Given the description of an element on the screen output the (x, y) to click on. 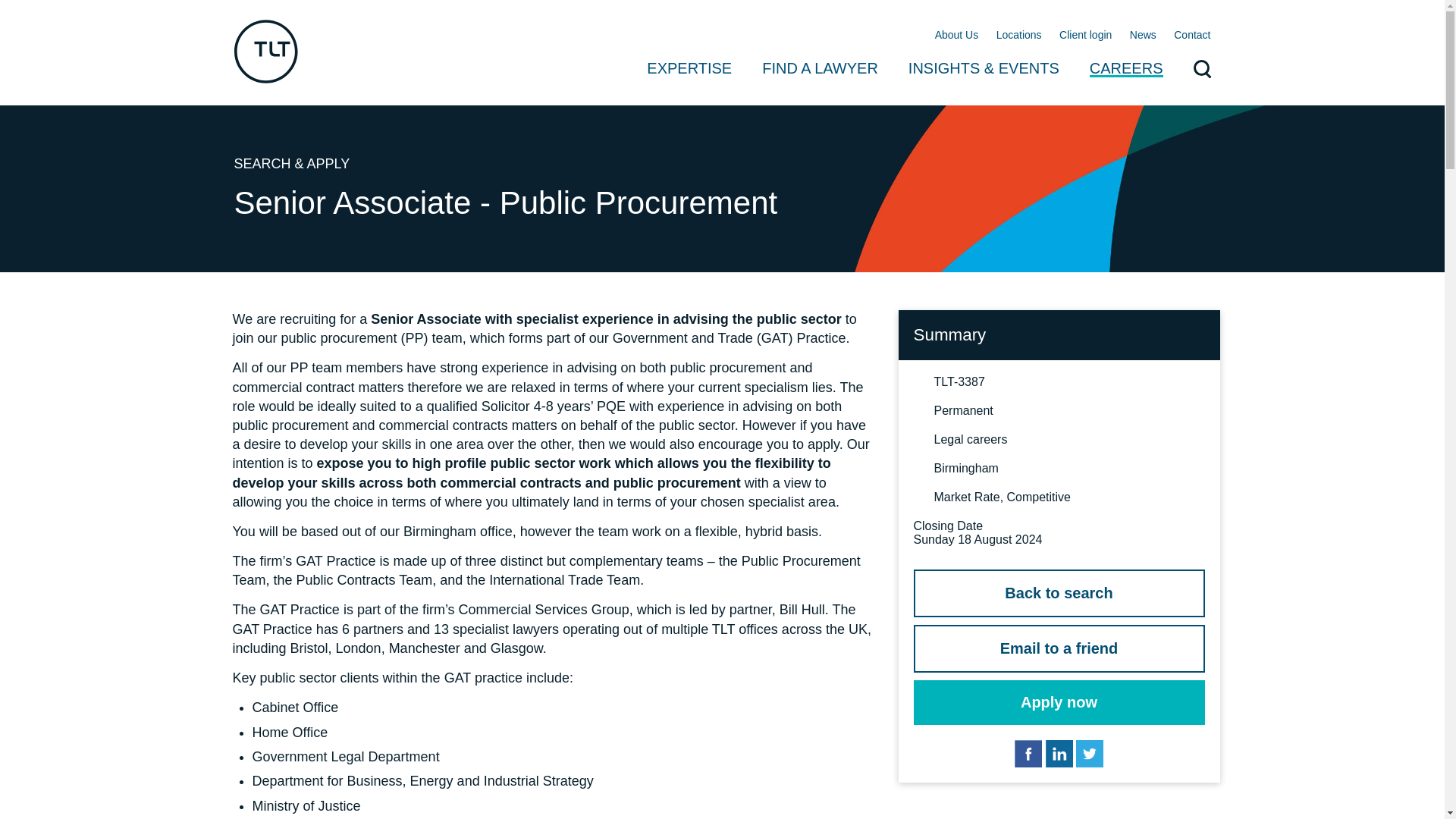
EXPERTISE (689, 82)
News (1142, 35)
Access to Client Login area (1085, 35)
Locations (1018, 35)
About Us (956, 35)
Contact (1191, 35)
Client login (1085, 35)
